Given the description of an element on the screen output the (x, y) to click on. 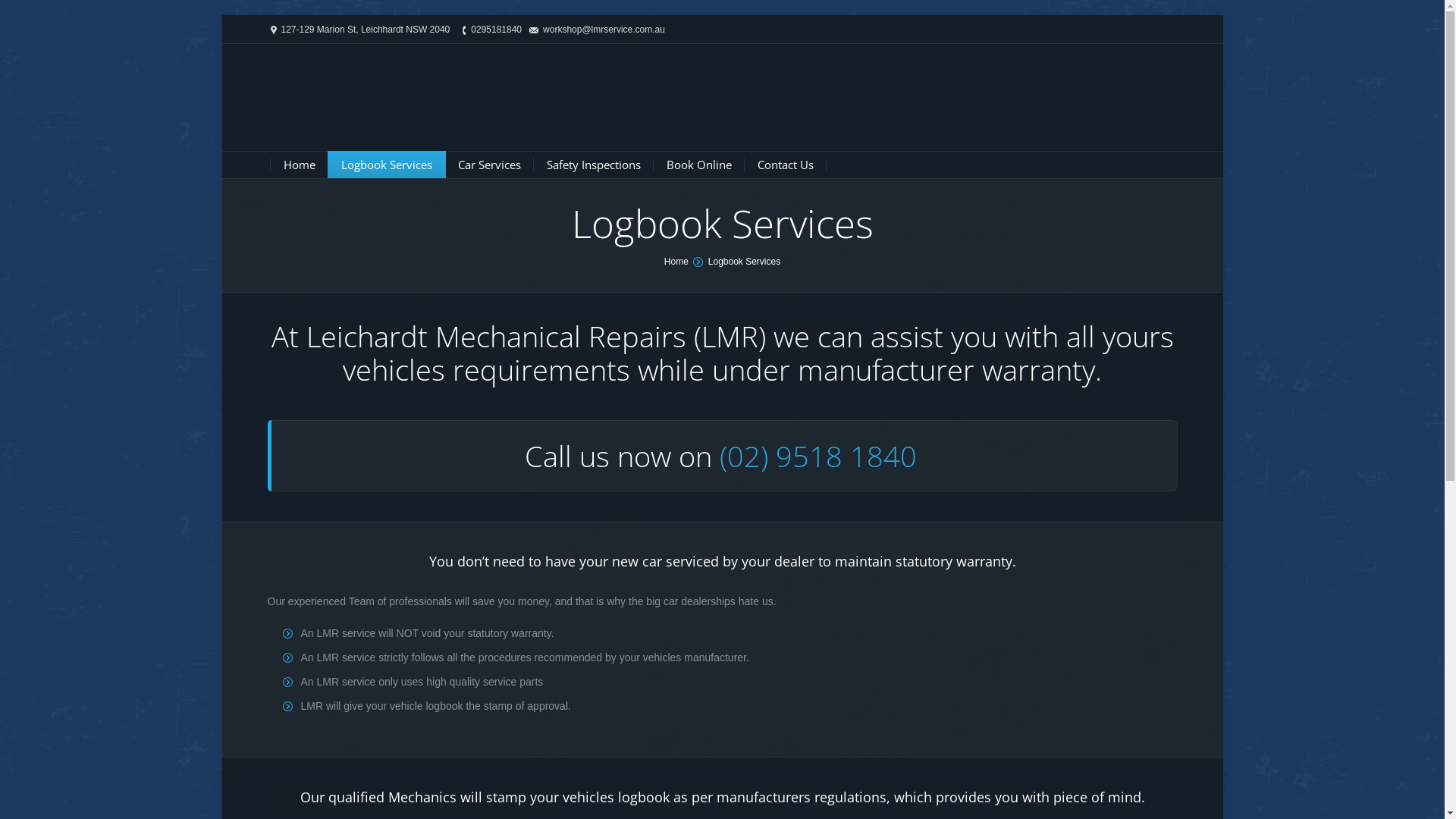
Safety Inspections Element type: text (592, 164)
Home Element type: text (676, 261)
Car Services Element type: text (489, 164)
Book Online Element type: text (698, 164)
Home Element type: text (299, 164)
Logbook Services Element type: text (386, 164)
Logbook Services Element type: text (744, 261)
Contact Us Element type: text (784, 164)
